Given the description of an element on the screen output the (x, y) to click on. 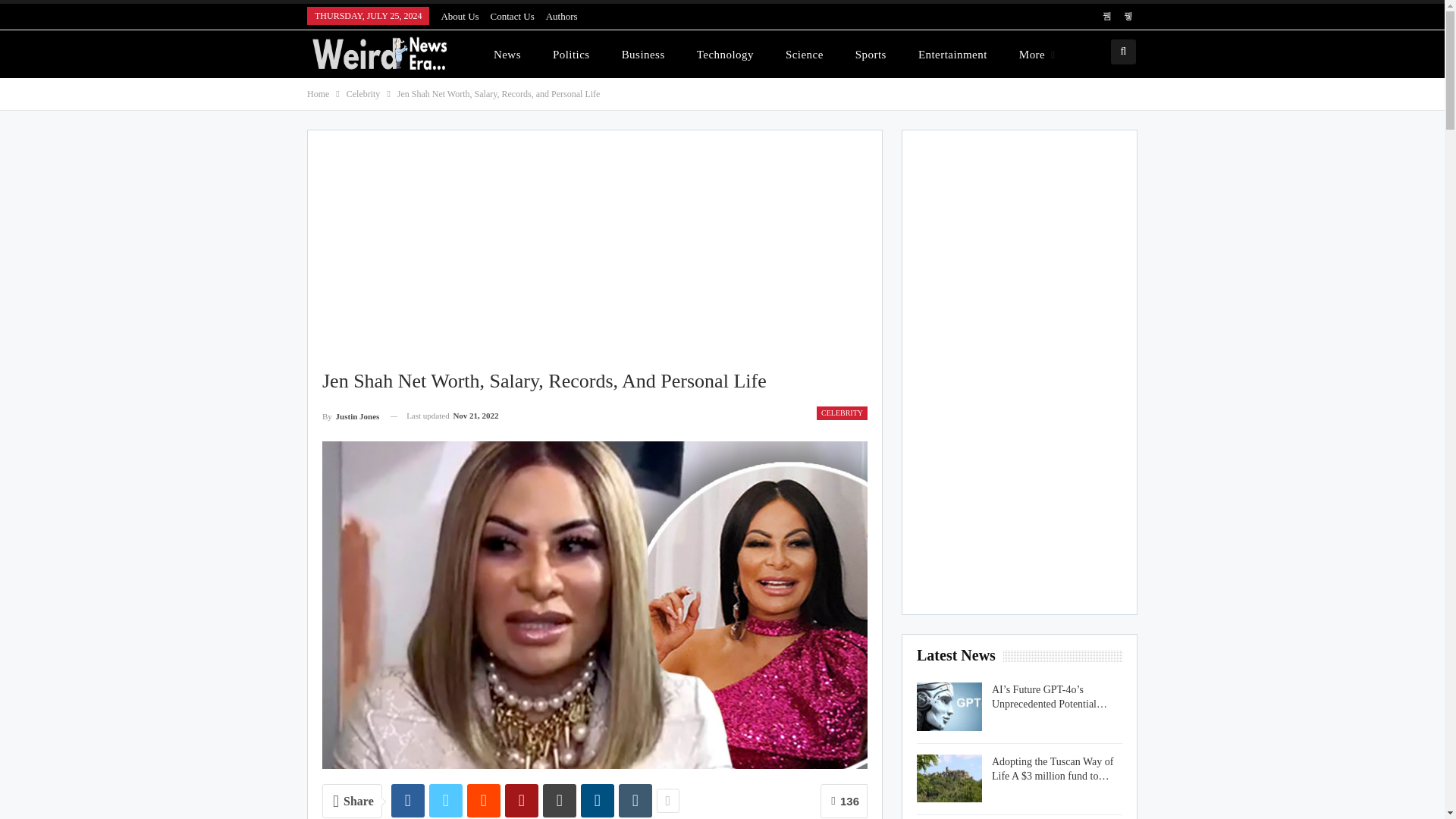
About Us (460, 16)
Politics (571, 53)
Technology (724, 53)
Browse Author Articles (349, 415)
By Justin Jones (349, 415)
Science (804, 53)
Contact Us (512, 16)
Business (643, 53)
CELEBRITY (841, 413)
Entertainment (951, 53)
More (1037, 53)
Home (318, 93)
Celebrity (363, 93)
Authors (562, 16)
Sports (870, 53)
